Given the description of an element on the screen output the (x, y) to click on. 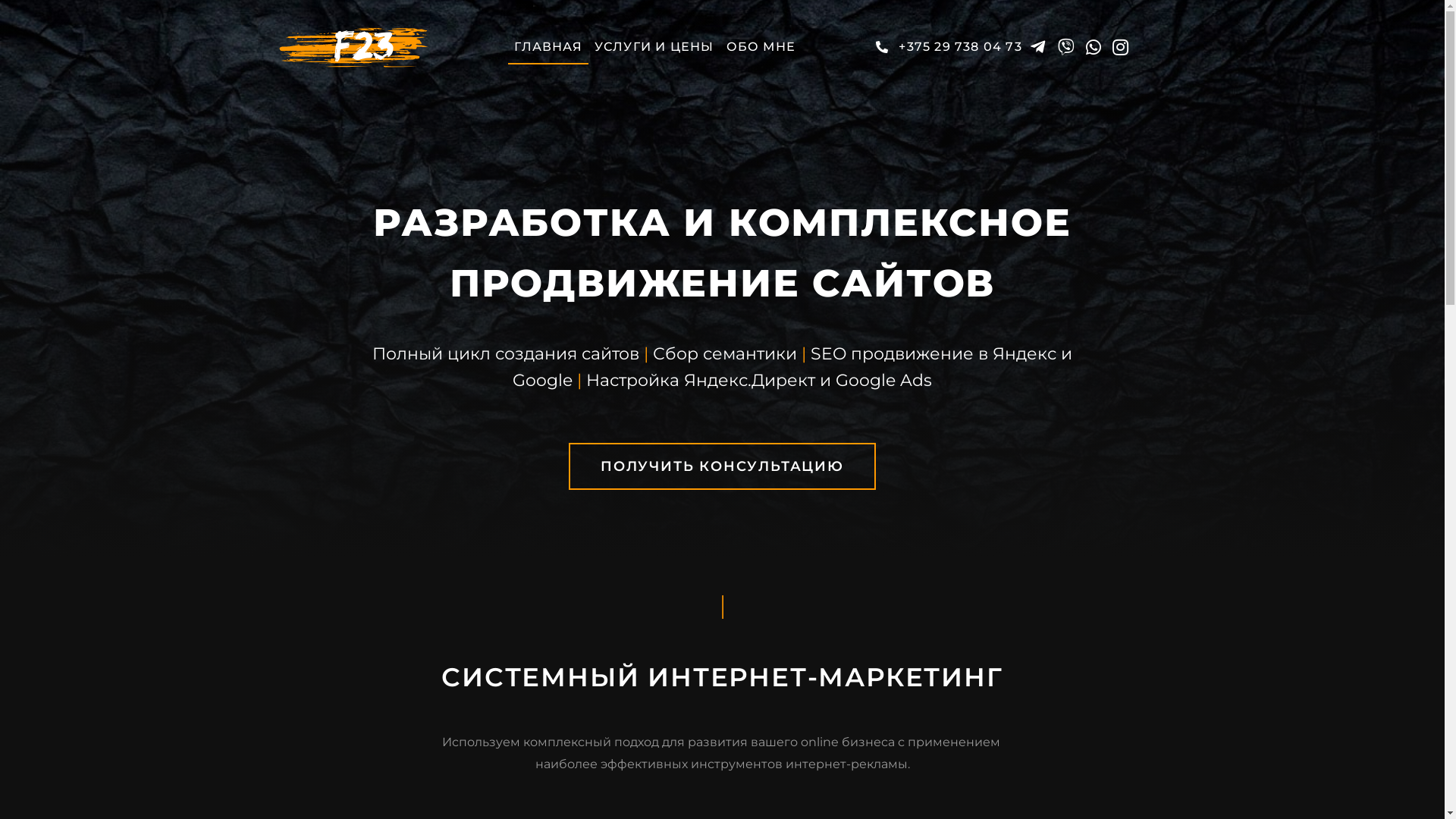
+375 29 738 04 73 Element type: text (946, 46)
